Given the description of an element on the screen output the (x, y) to click on. 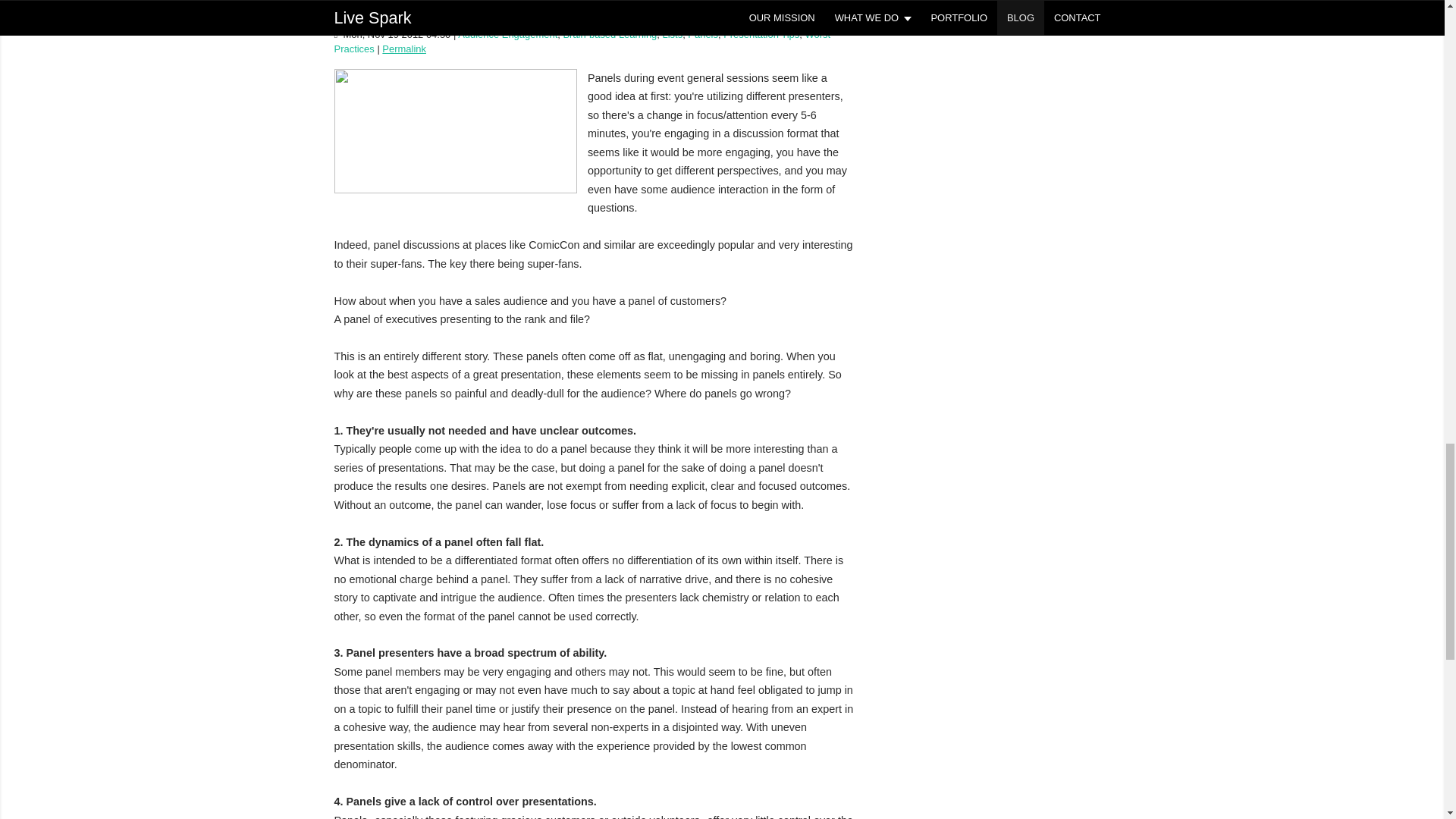
Panels (702, 34)
Permalink (403, 48)
Lists (672, 34)
Worst Practices (581, 41)
Brain-based Learning (609, 34)
Audience Engagement (507, 34)
Presentation Tips (761, 34)
